Given the description of an element on the screen output the (x, y) to click on. 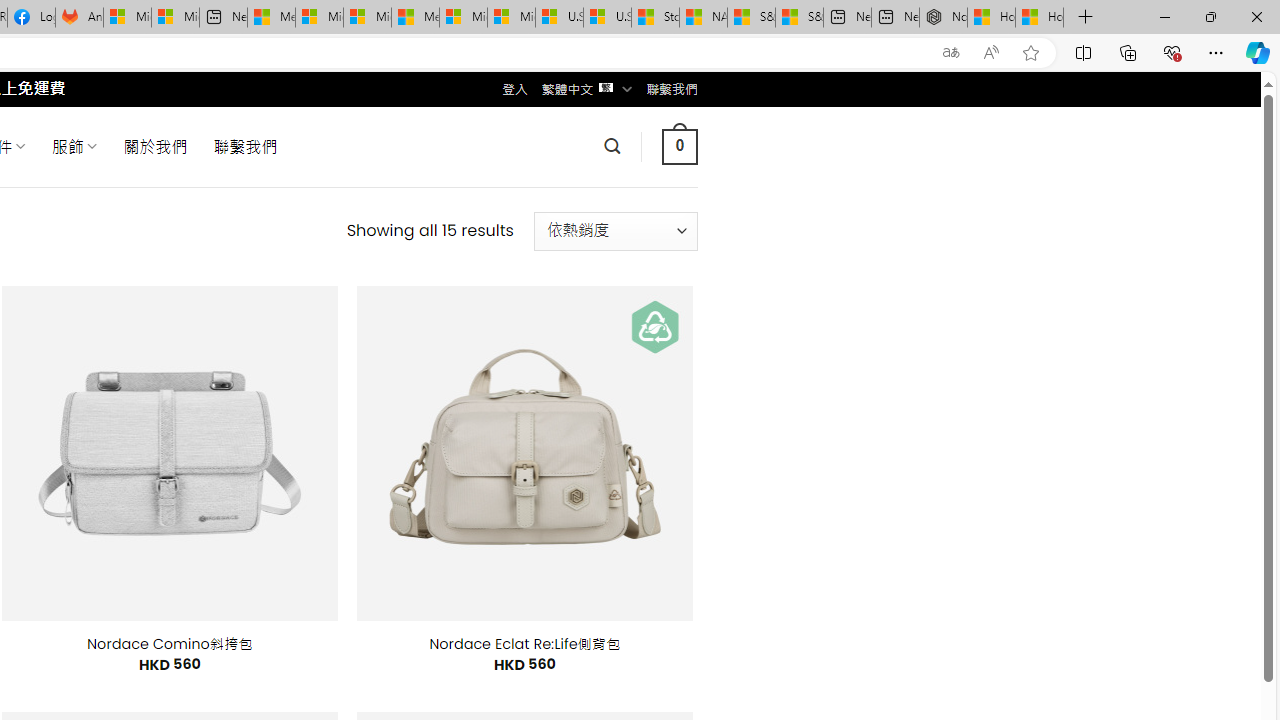
  0   (679, 146)
Microsoft account | Home (367, 17)
